Given the description of an element on the screen output the (x, y) to click on. 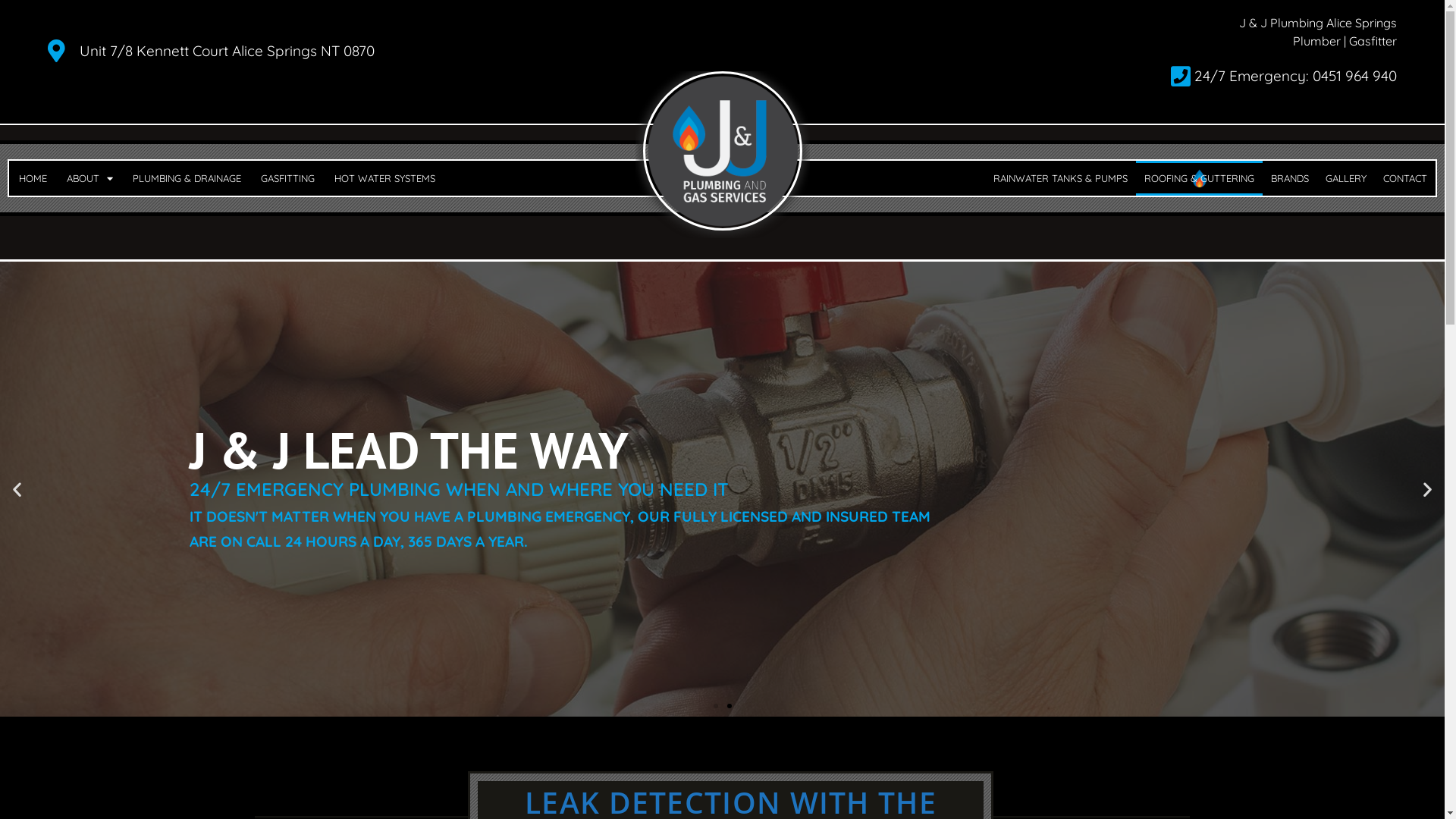
GALLERY Element type: text (1345, 177)
HOME Element type: text (32, 177)
24/7 Emergency: 0451 964 940 Element type: text (1071, 76)
BRANDS Element type: text (1289, 177)
GASFITTING Element type: text (287, 177)
j and j plumbing and gas services Element type: hover (722, 150)
Unit 7/8 Kennett Court Alice Springs NT 0870 Element type: text (388, 50)
ROOFING & GUTTERING Element type: text (1198, 177)
HOT WATER SYSTEMS Element type: text (384, 177)
CONTACT Element type: text (1404, 177)
RAINWATER TANKS & PUMPS Element type: text (1060, 177)
ABOUT Element type: text (89, 177)
PLUMBING & DRAINAGE Element type: text (186, 177)
